Given the description of an element on the screen output the (x, y) to click on. 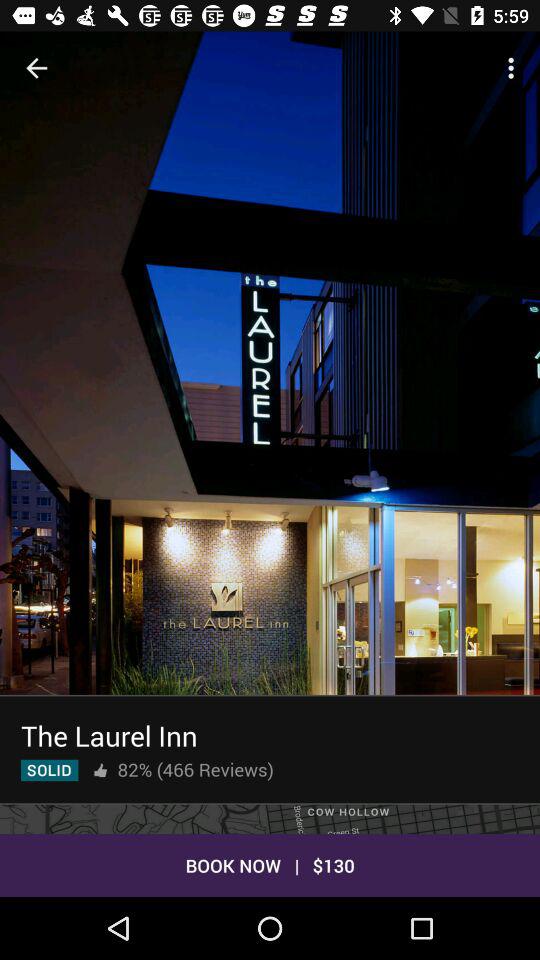
press the item at the top left corner (36, 68)
